Given the description of an element on the screen output the (x, y) to click on. 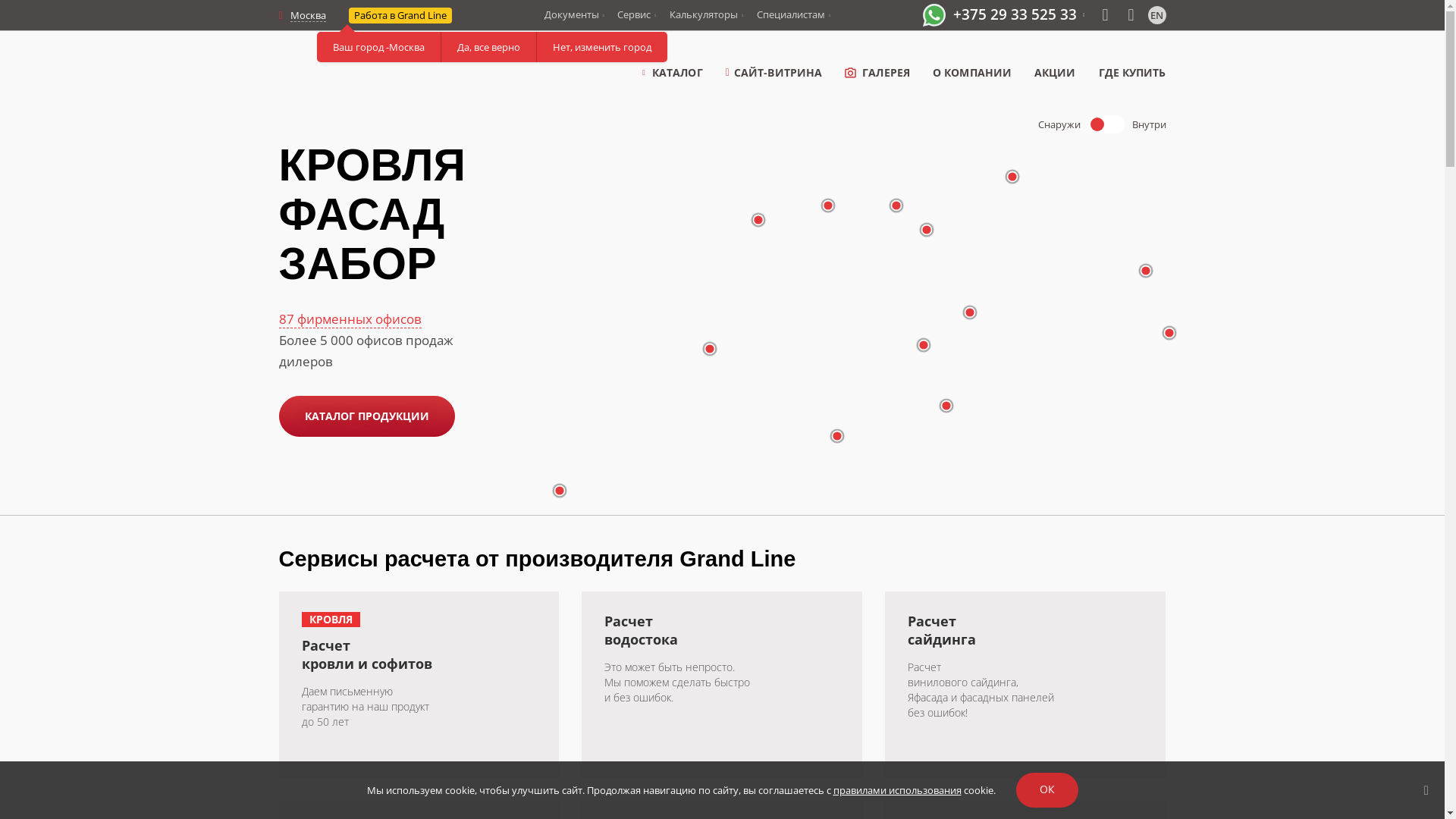
EN Element type: text (1157, 15)
+375 29 33 525 33 Element type: text (1019, 14)
